Given the description of an element on the screen output the (x, y) to click on. 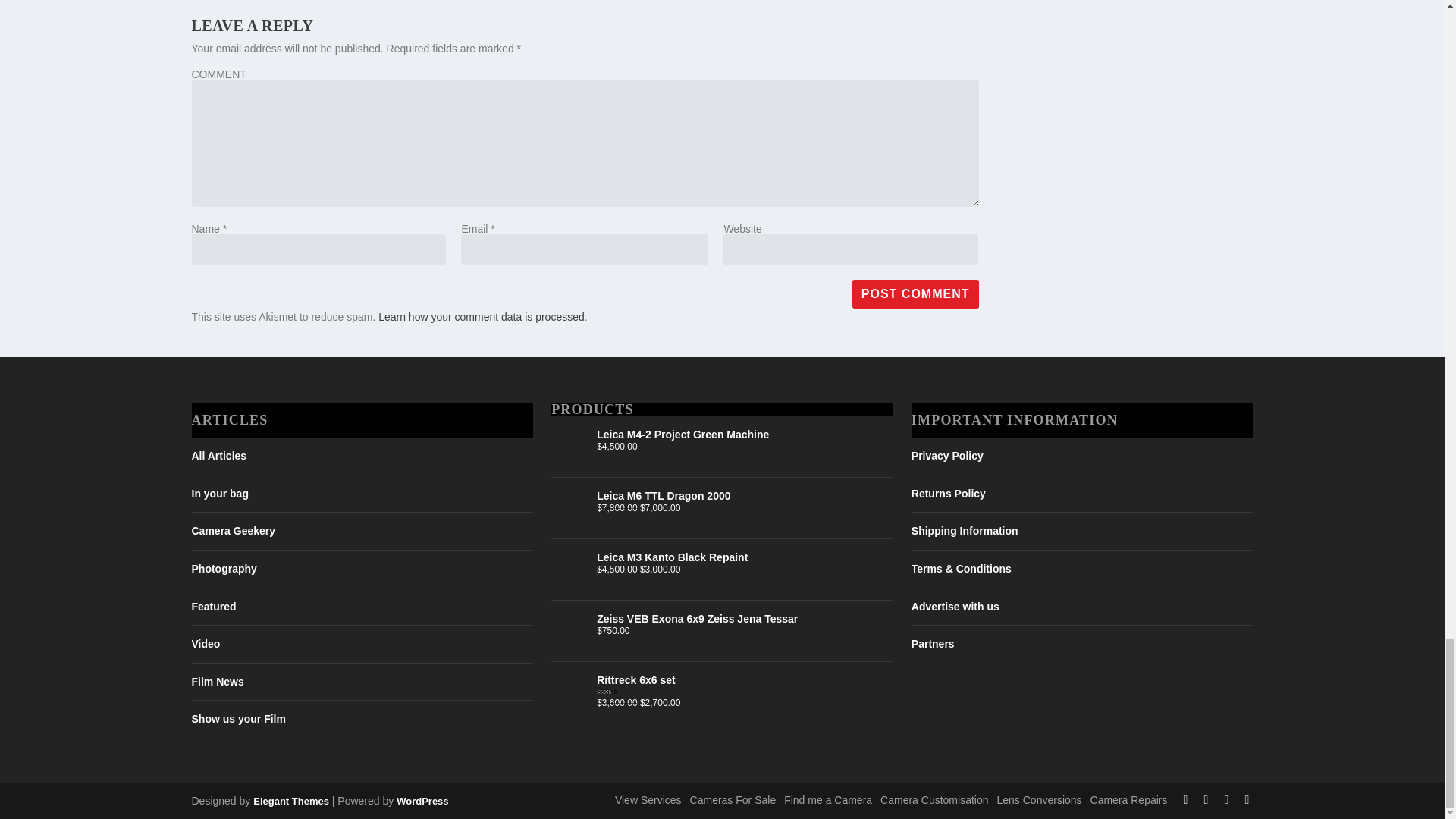
Post Comment (914, 294)
